Given the description of an element on the screen output the (x, y) to click on. 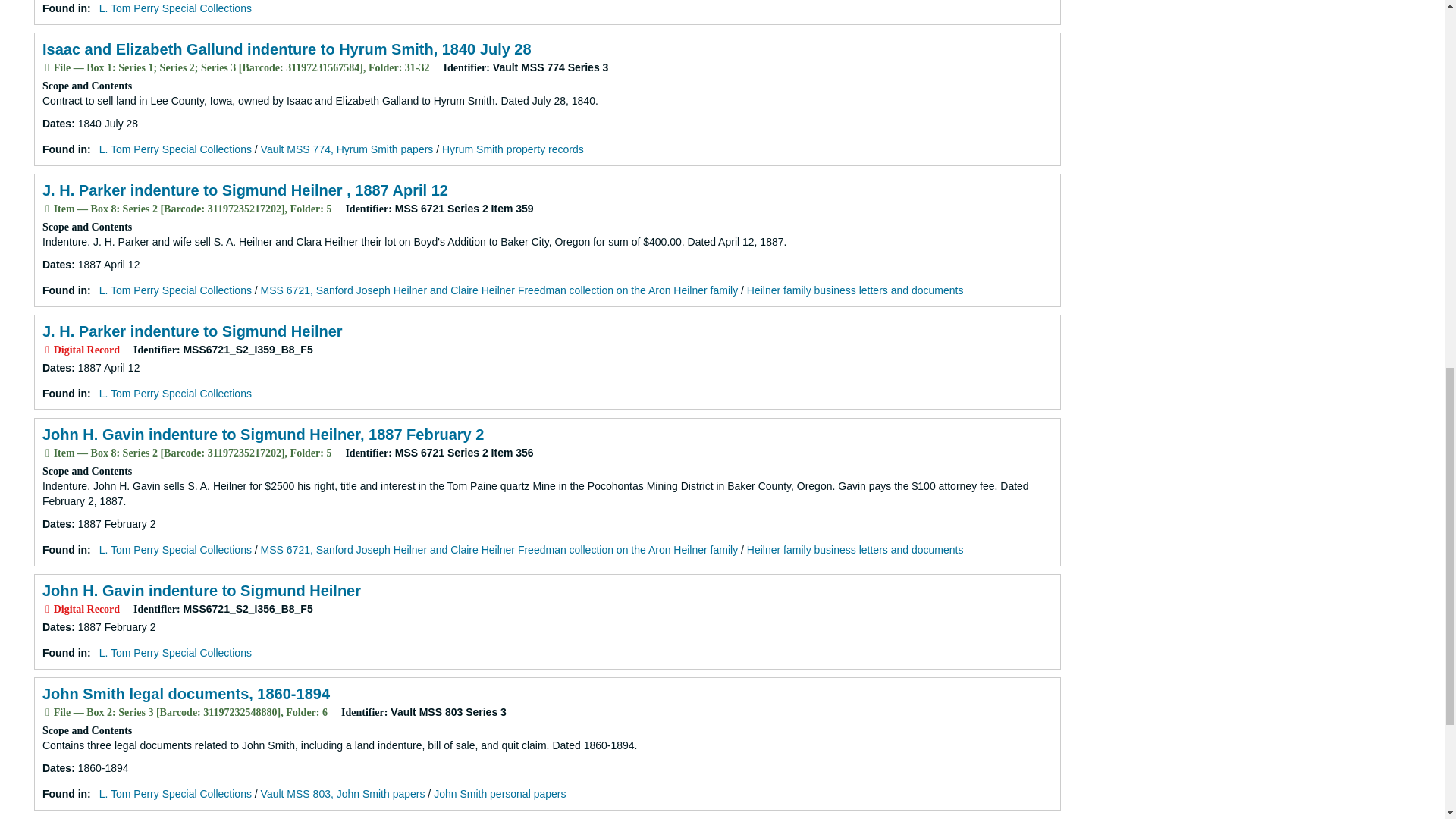
J. H. Parker indenture to Sigmund Heilner , 1887 April 12 (245, 190)
translation missing: en.dates (56, 767)
L. Tom Perry Special Collections (175, 8)
translation missing: en.dates (56, 264)
J. H. Parker indenture to Sigmund Heilner (192, 330)
Heilner family business letters and documents (854, 290)
Hyrum Smith property records (512, 149)
translation missing: en.dates (56, 367)
